Given the description of an element on the screen output the (x, y) to click on. 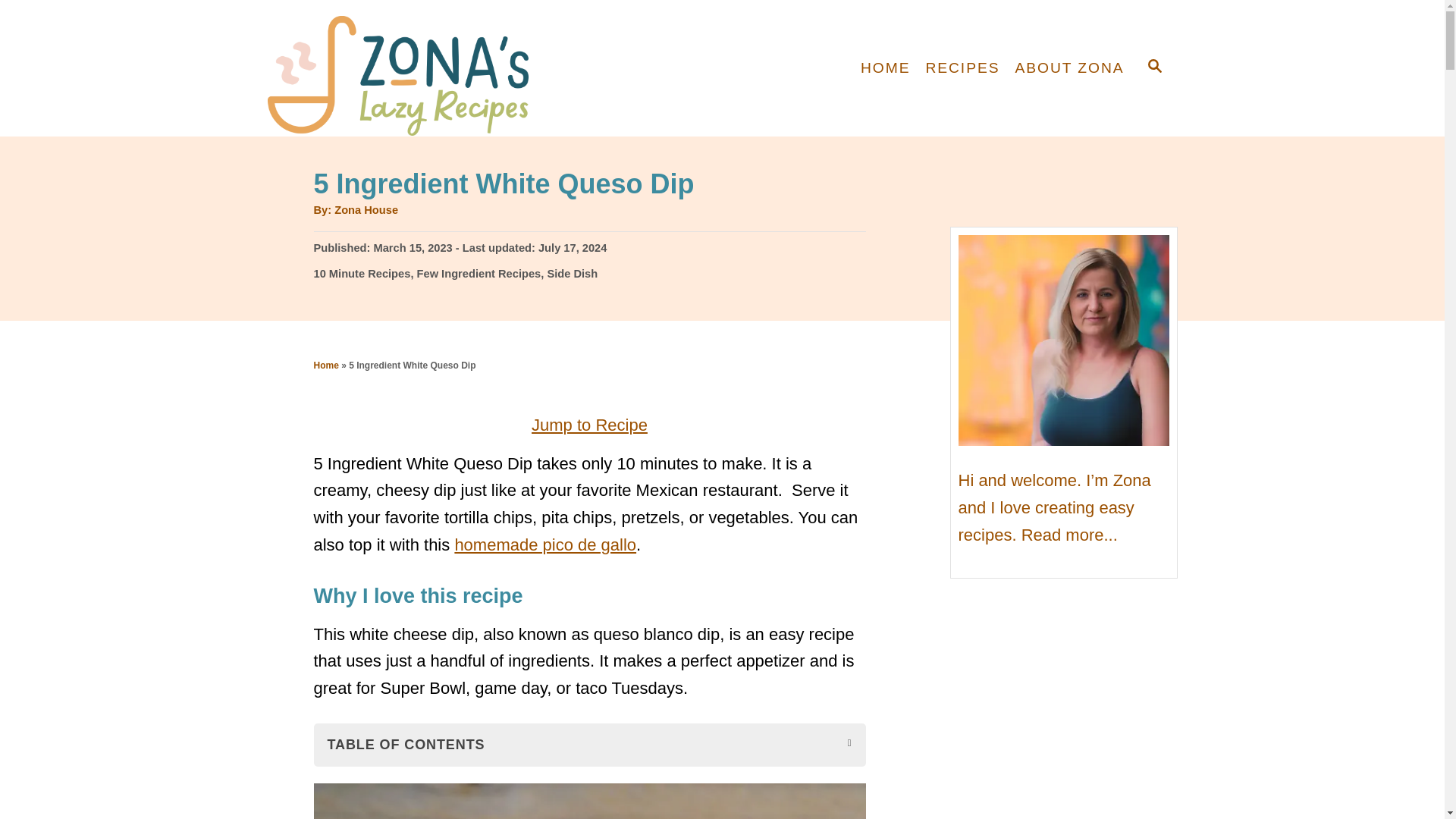
TABLE OF CONTENTS (590, 744)
Zona House (365, 209)
Zona's Lazy Recipes (403, 68)
ABOUT ZONA (1069, 68)
Jump to Recipe (589, 424)
Few Ingredient Recipes (478, 272)
homemade pico de gallo (545, 544)
SEARCH (1153, 67)
10 Minute Recipes (362, 272)
HOME (885, 68)
Home (326, 365)
RECIPES (962, 68)
Side Dish (571, 272)
